Given the description of an element on the screen output the (x, y) to click on. 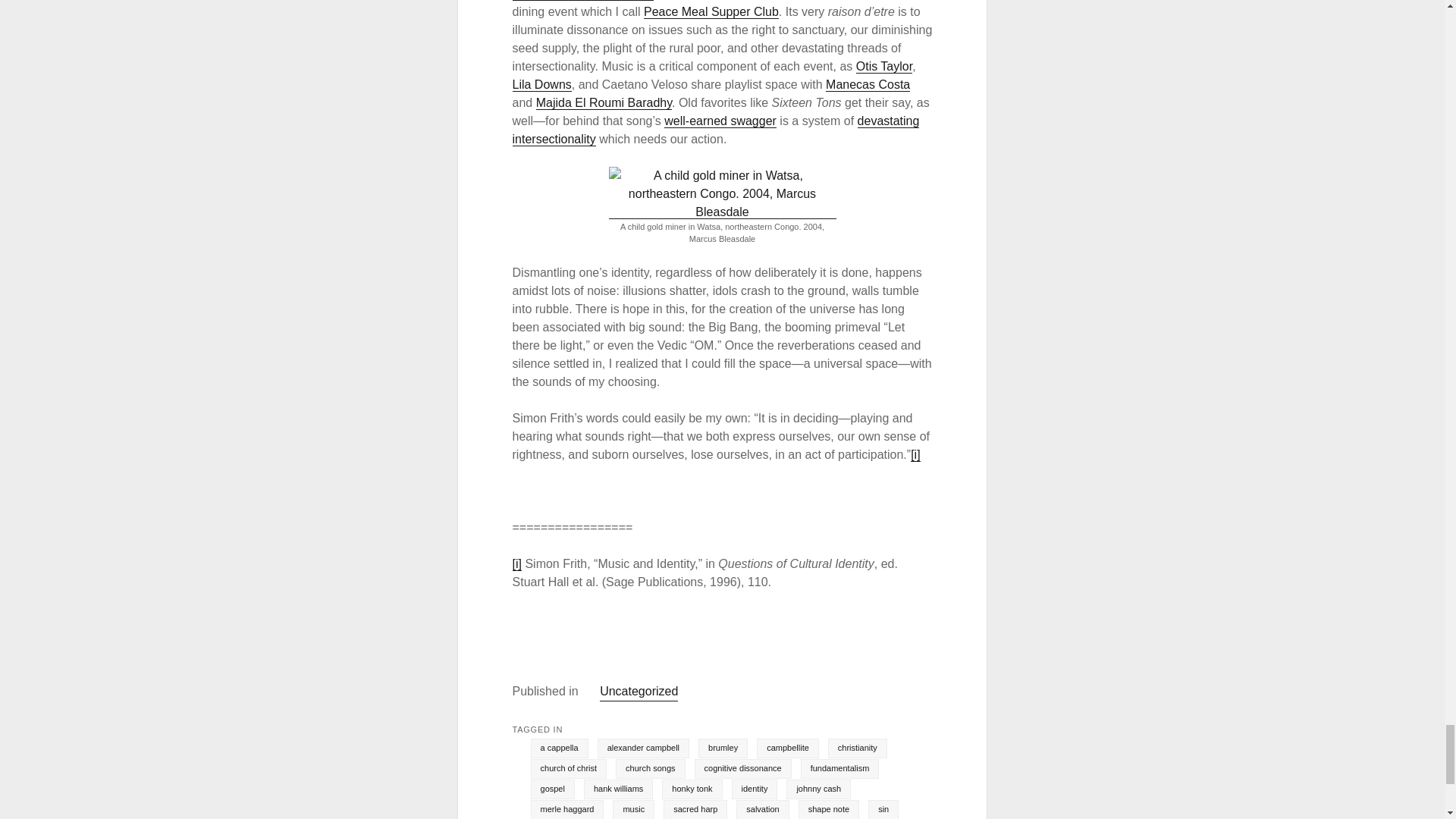
View all posts tagged a cappella (559, 748)
View all posts tagged cognitive dissonance (743, 768)
View all posts tagged fundamentalism (839, 768)
View all posts tagged identity (754, 789)
View all posts tagged christianity (857, 748)
View all posts tagged hank williams (617, 789)
View all posts tagged church songs (649, 768)
View all posts in Uncategorized (638, 691)
View all posts tagged church of christ (569, 768)
View all posts tagged brumley (723, 748)
